Given the description of an element on the screen output the (x, y) to click on. 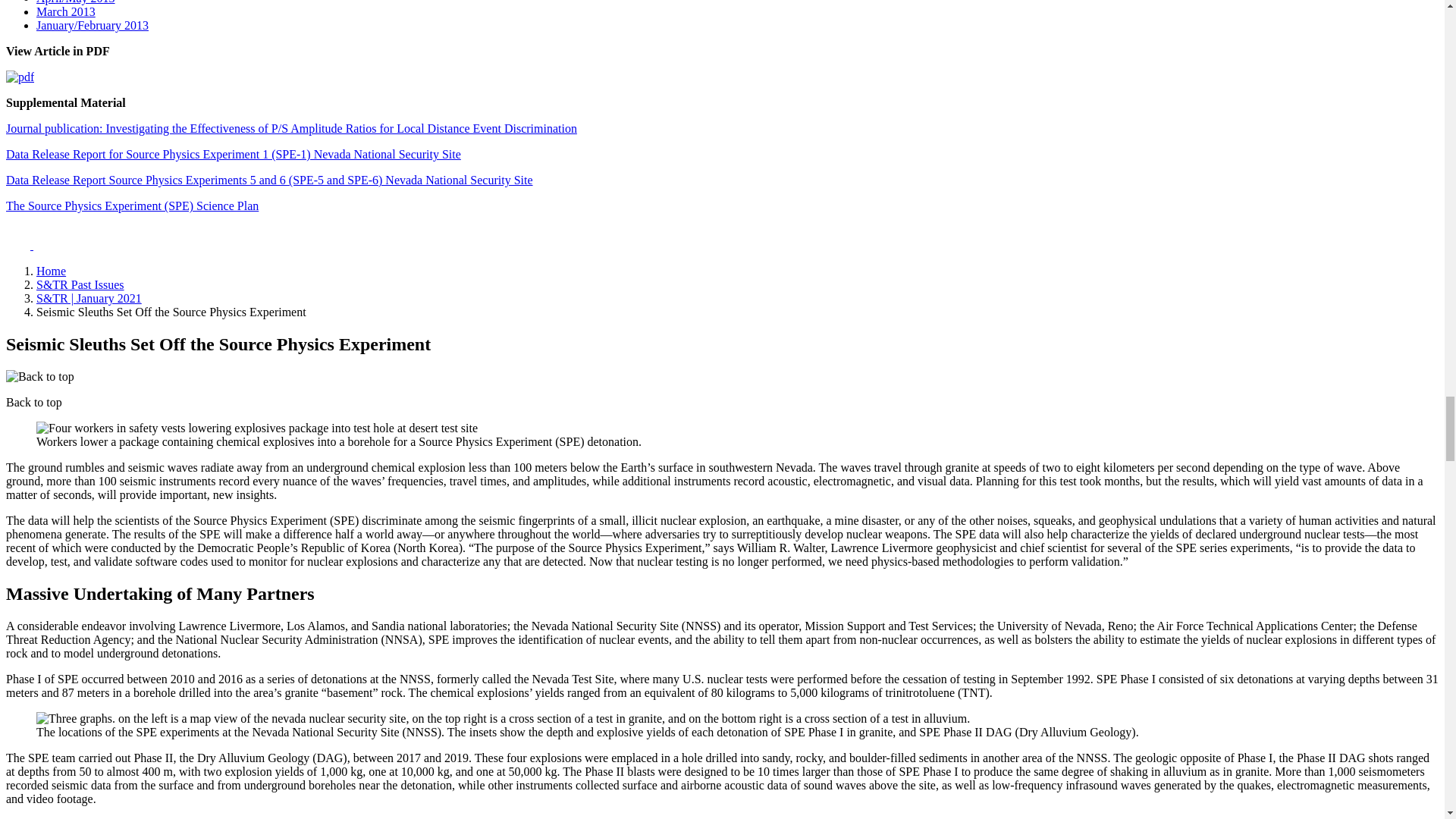
3-walter1.jpg (502, 718)
Share to Linkedin (45, 245)
Share to X (19, 245)
